Given the description of an element on the screen output the (x, y) to click on. 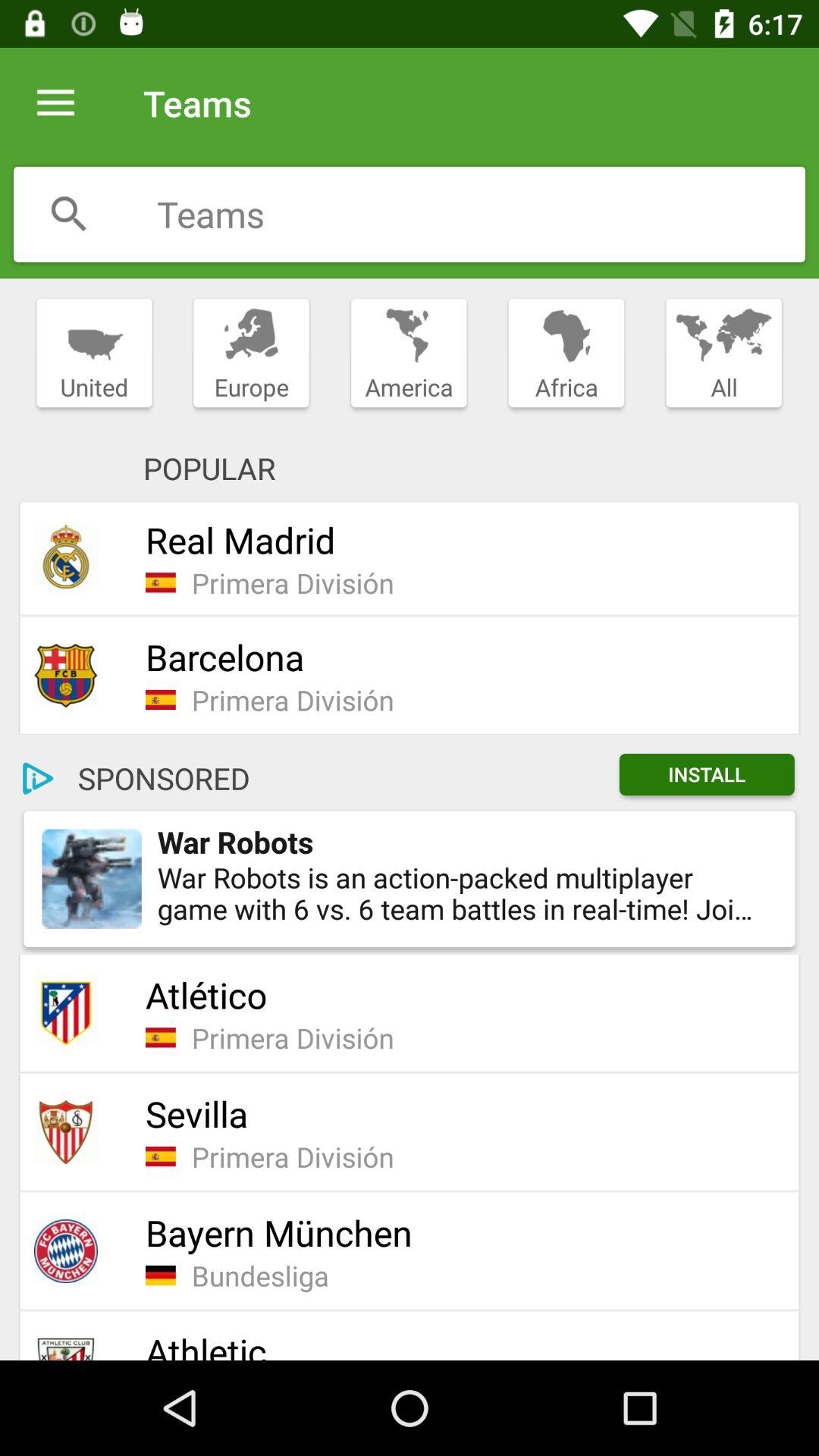
tap the item below bundesliga item (462, 1343)
